Given the description of an element on the screen output the (x, y) to click on. 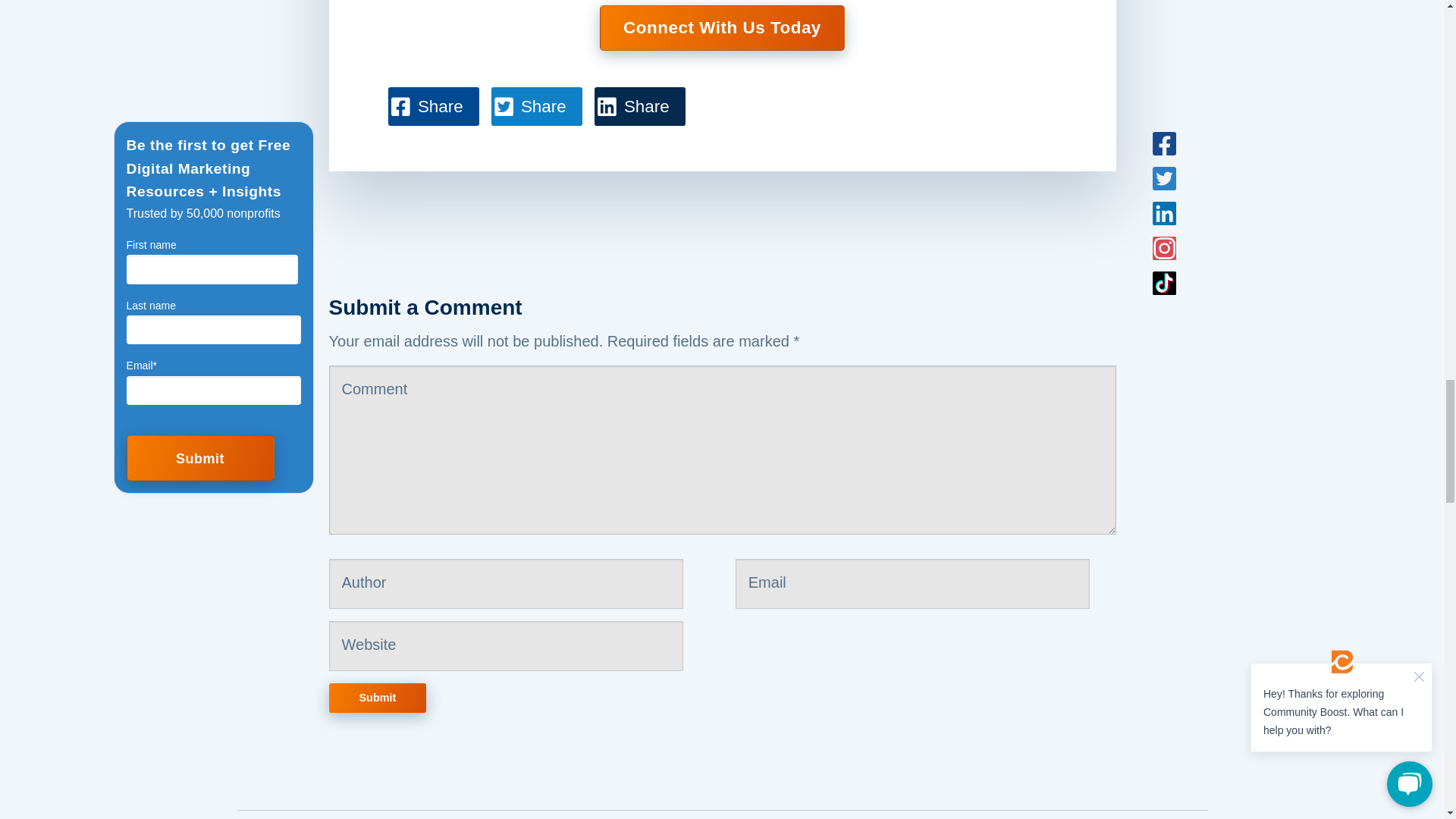
Submit (377, 697)
